Given the description of an element on the screen output the (x, y) to click on. 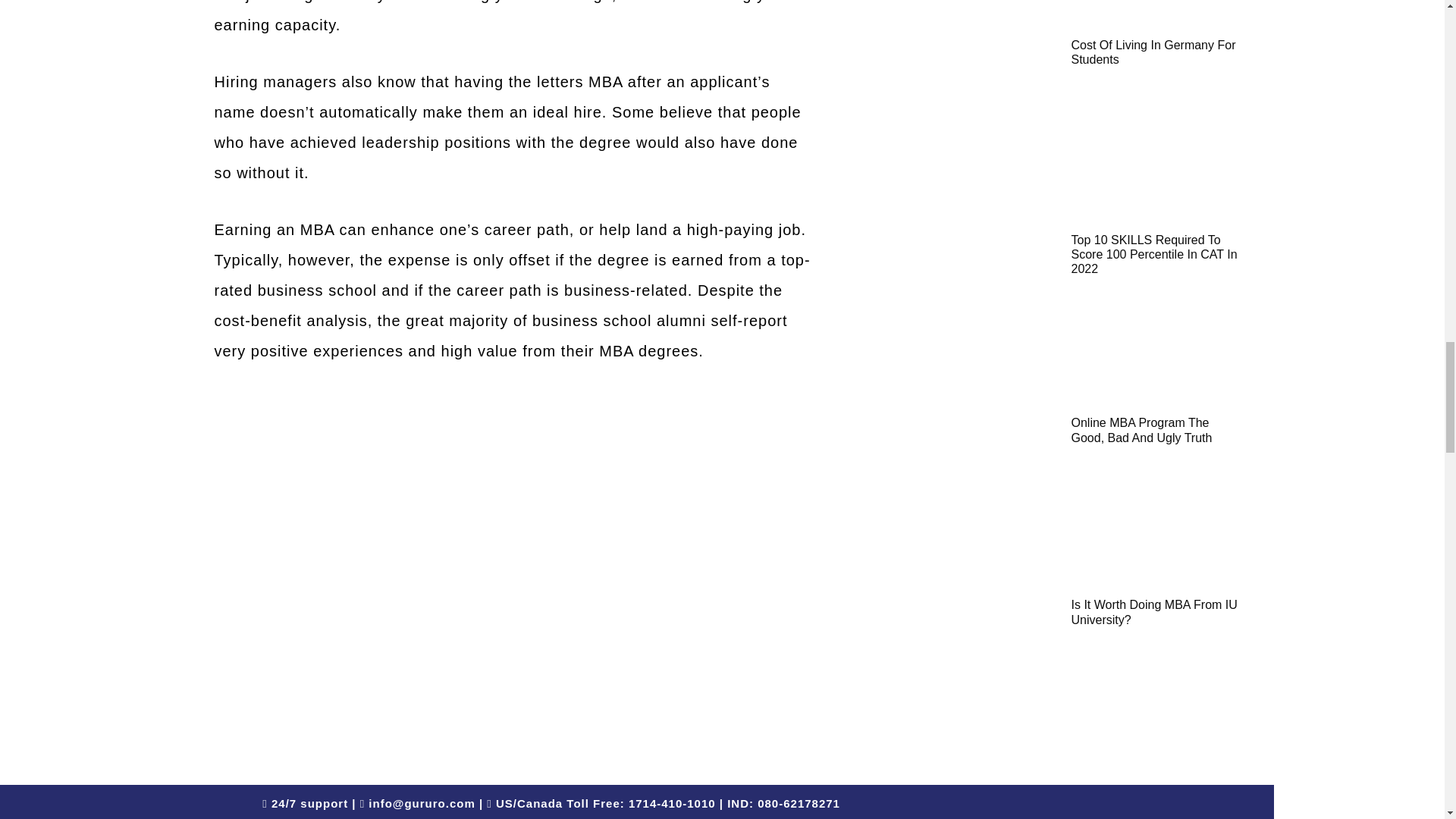
Online MBA Program The Good, Bad And Ugly Truth (1140, 429)
Cost Of Living In Germany For Students (1152, 52)
